Given the description of an element on the screen output the (x, y) to click on. 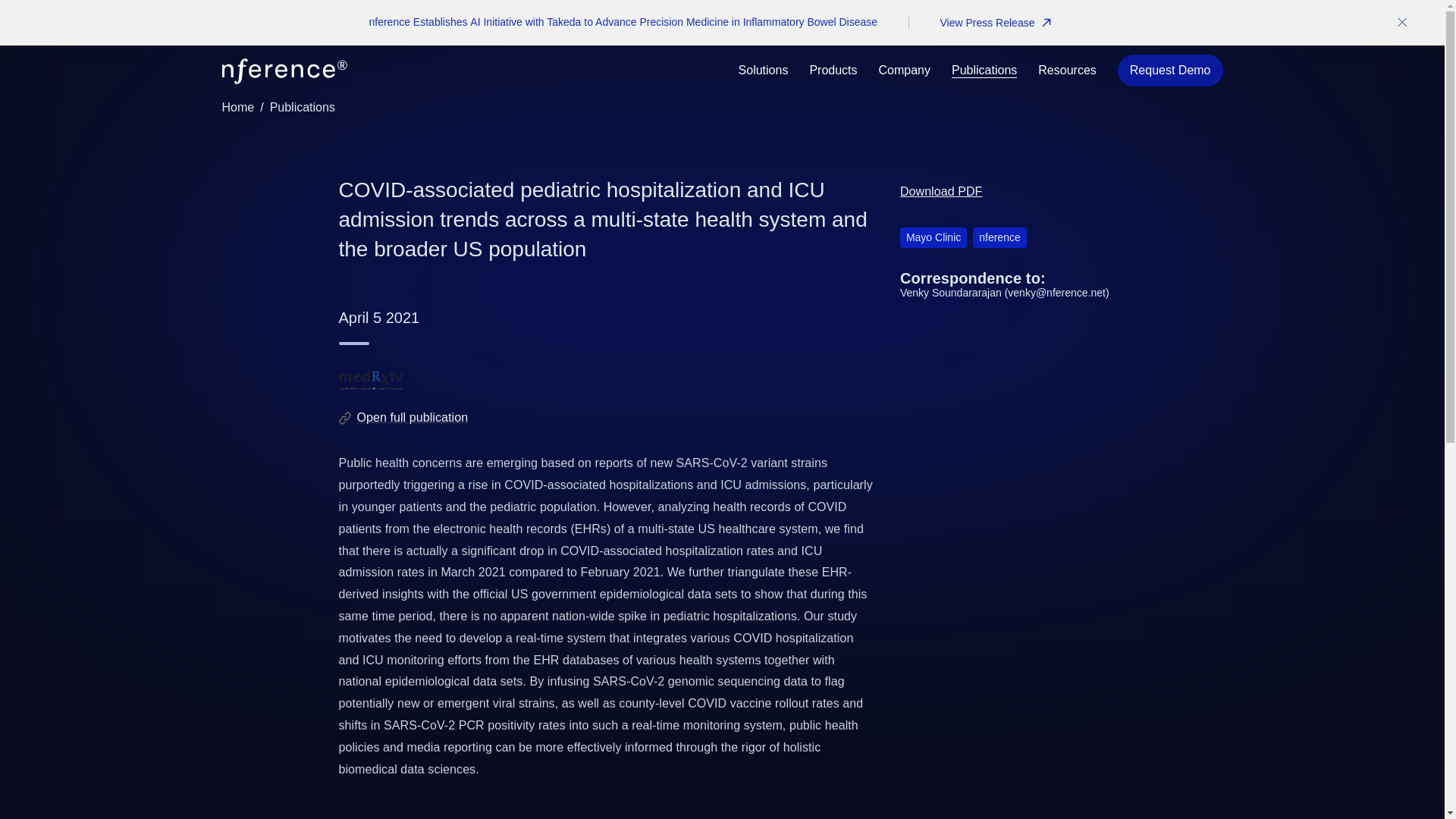
Download PDF (940, 191)
Open full publication (411, 417)
Request Demo (1170, 70)
Publications (301, 106)
Publications (984, 70)
Home (237, 106)
View Press Release (995, 22)
